Given the description of an element on the screen output the (x, y) to click on. 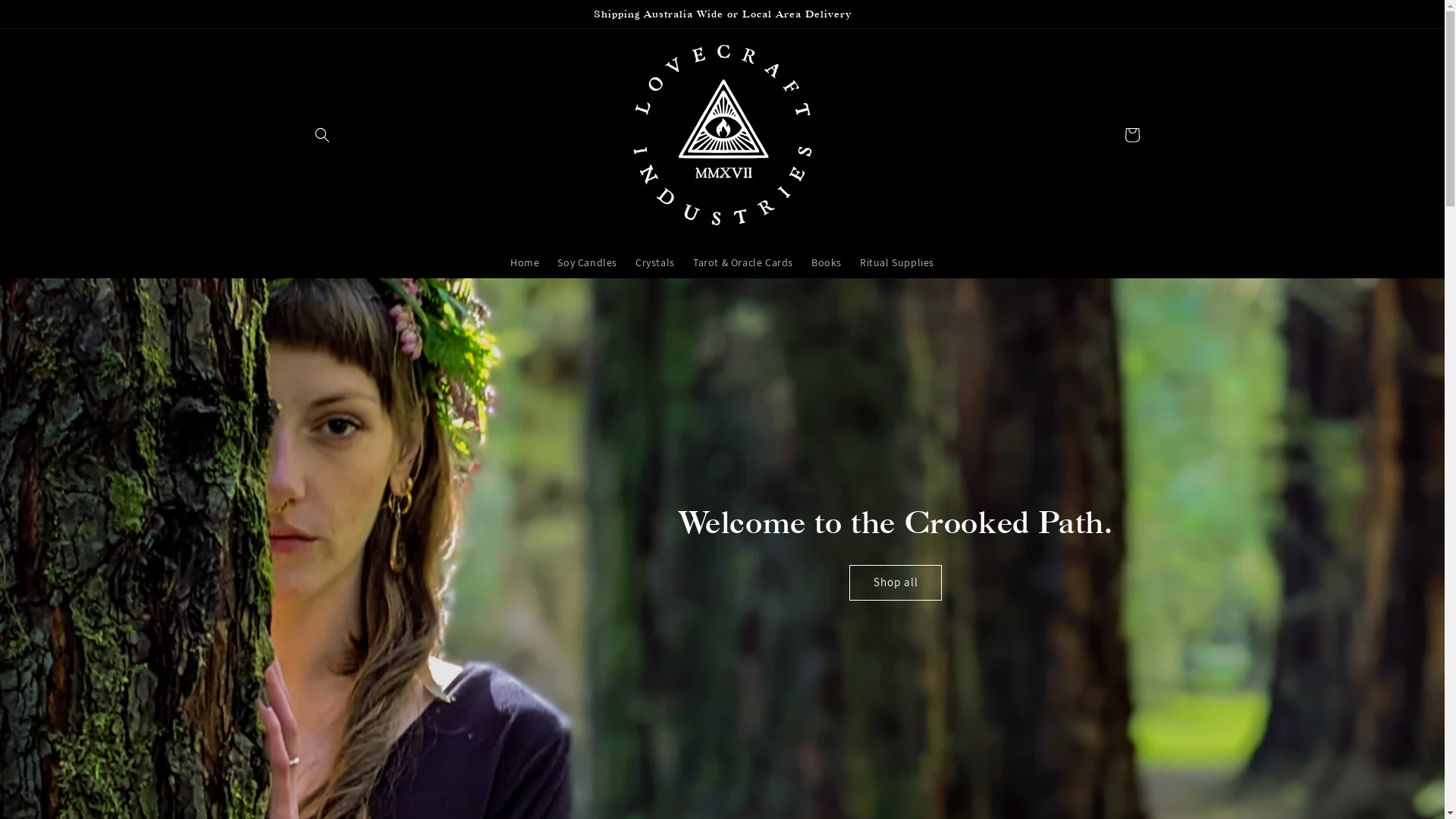
Soy Candles Element type: text (587, 262)
Shop all Element type: text (895, 582)
Home Element type: text (524, 262)
Books Element type: text (826, 262)
Cart Element type: text (1131, 134)
Ritual Supplies Element type: text (896, 262)
Crystals Element type: text (655, 262)
Tarot & Oracle Cards Element type: text (743, 262)
